Given the description of an element on the screen output the (x, y) to click on. 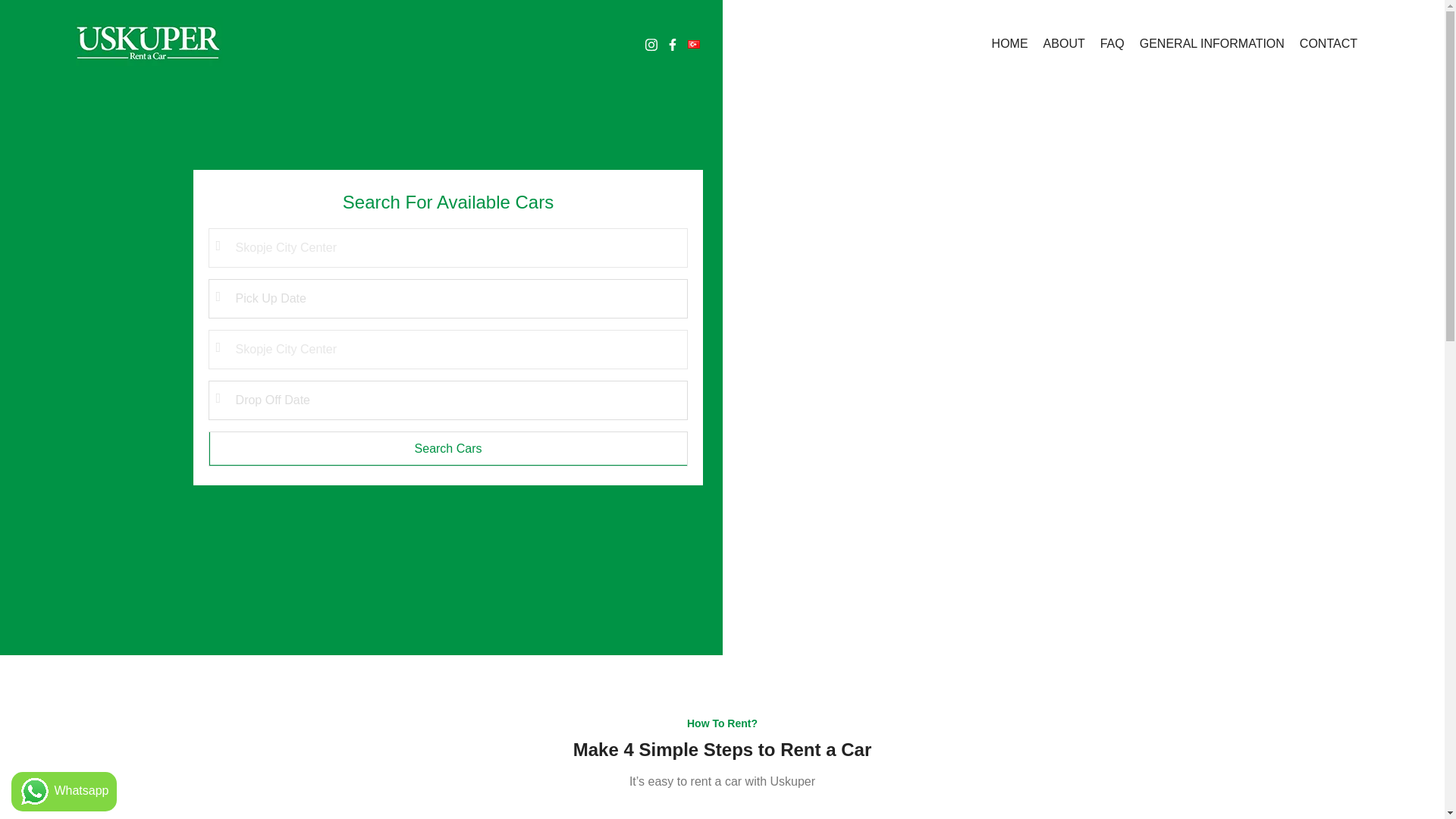
CONTACT (1320, 43)
ABOUT (1055, 43)
GENERAL INFORMATION (1204, 43)
Search Cars (448, 448)
Whatsapp (63, 791)
HOME (1001, 43)
FAQ (1104, 43)
